Given the description of an element on the screen output the (x, y) to click on. 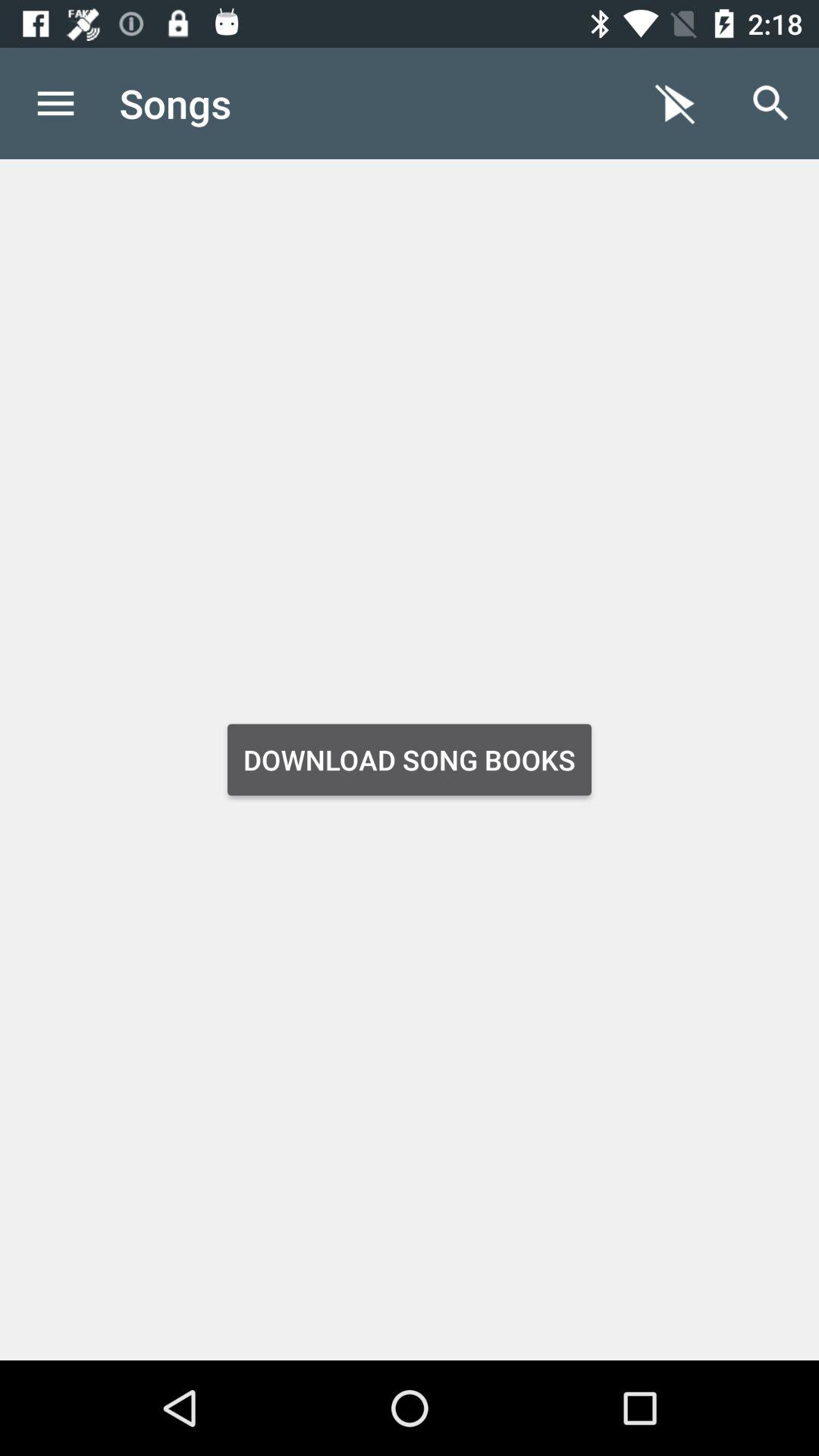
tap the item next to the songs item (55, 103)
